Given the description of an element on the screen output the (x, y) to click on. 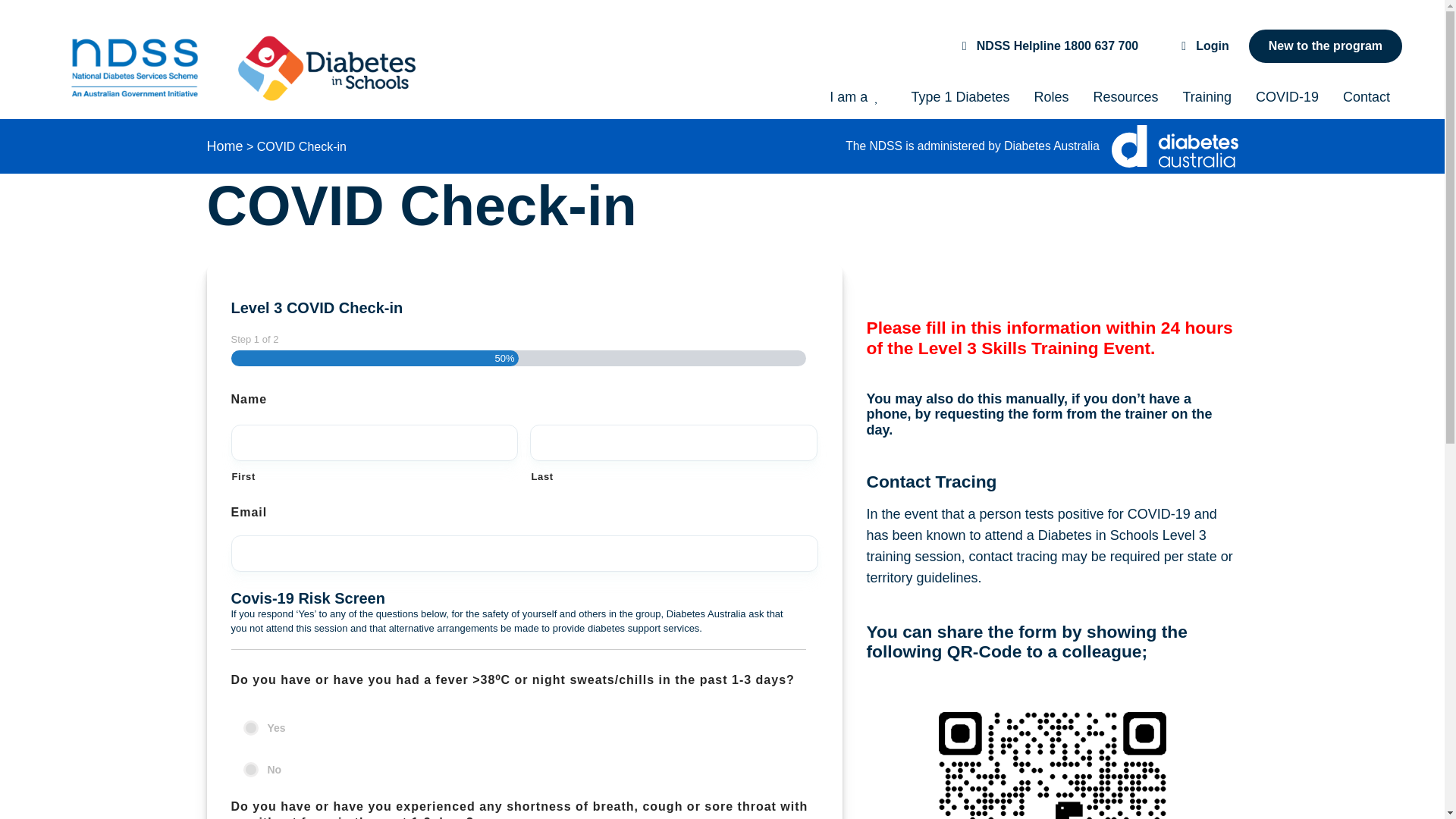
New to the program (1325, 46)
Roles (1051, 96)
Login (1203, 46)
Home (224, 146)
NDSS Helpline 1800 637 700 (1048, 46)
Resources (1125, 96)
The NDSS is administered by Diabetes Australia (1018, 145)
Training (1206, 96)
Type 1 Diabetes (960, 96)
Contact (1366, 96)
I am a (857, 96)
COVID-19 (1286, 96)
